Given the description of an element on the screen output the (x, y) to click on. 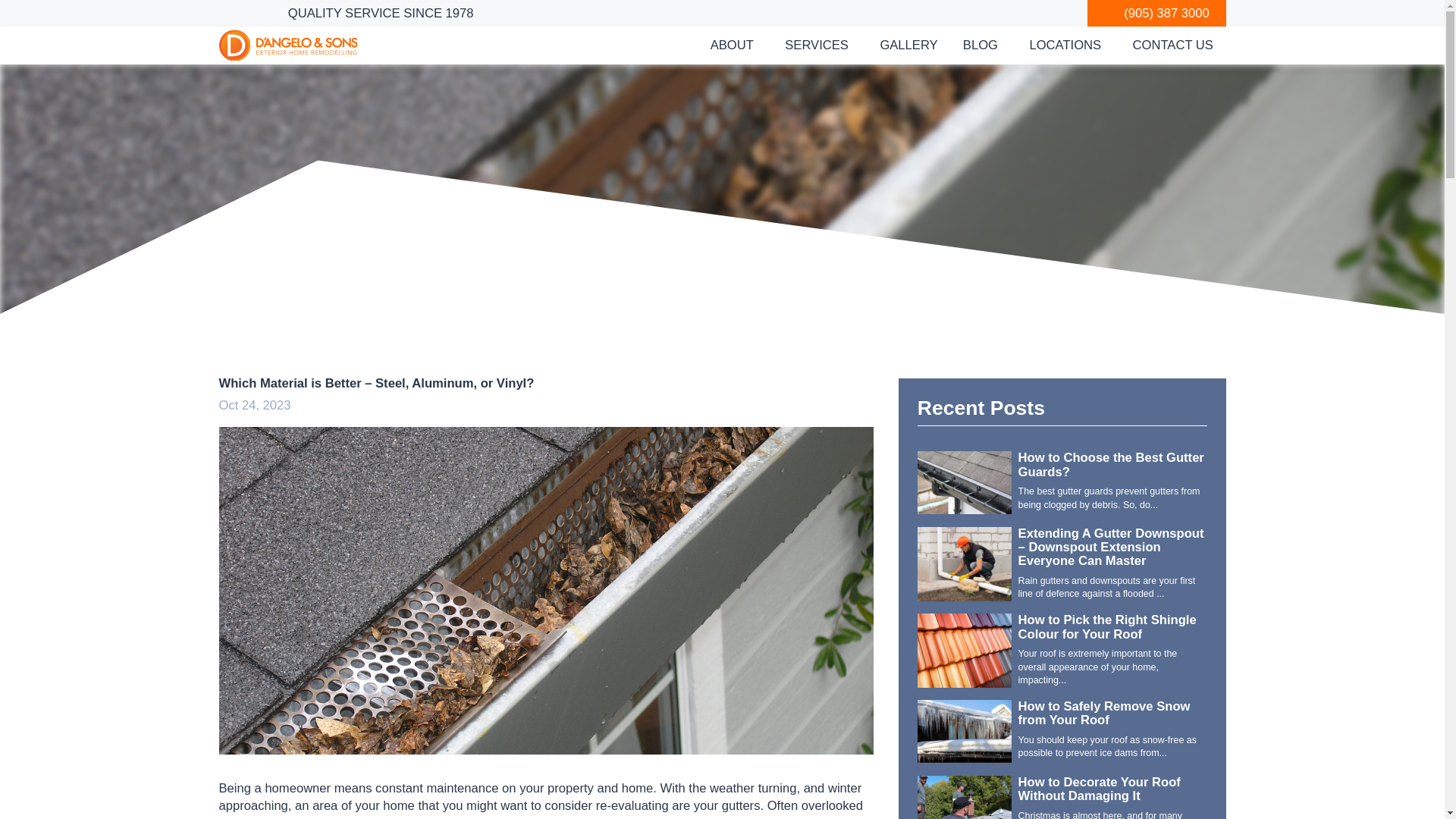
BLOG (973, 45)
GALLERY (908, 45)
SERVICES (810, 45)
ABOUT (725, 45)
